Given the description of an element on the screen output the (x, y) to click on. 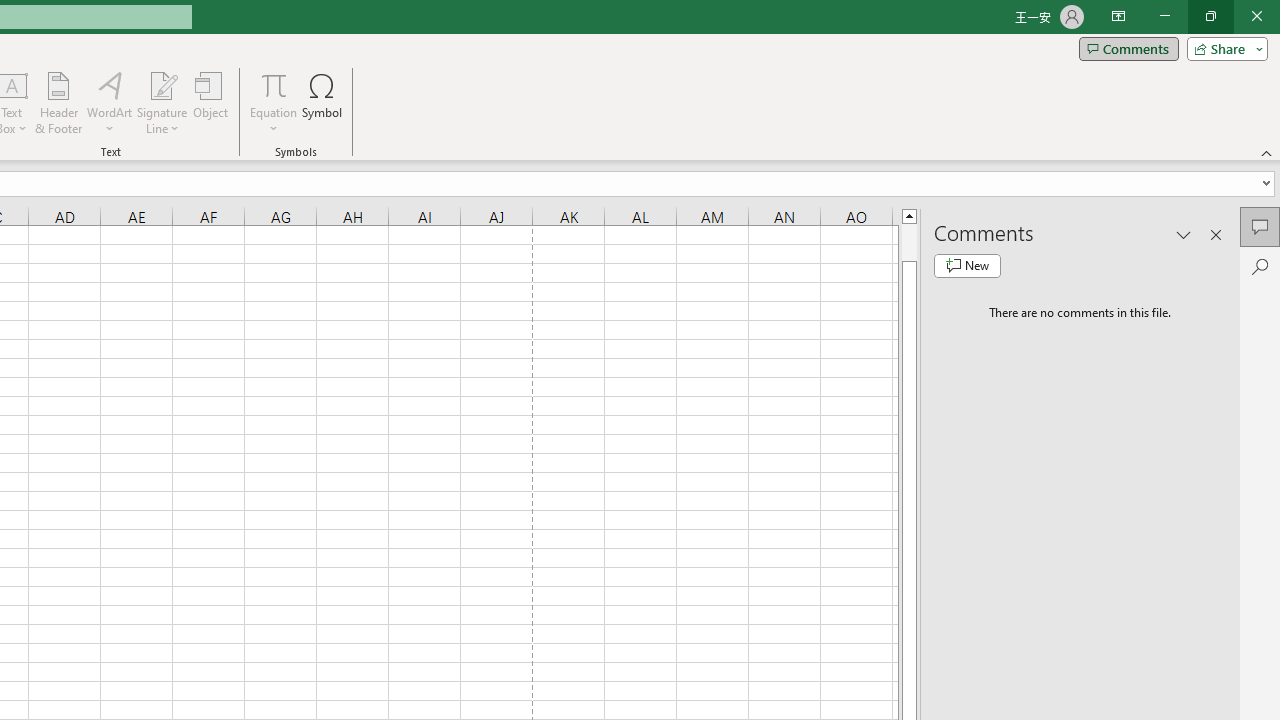
Page up (909, 241)
Symbol... (322, 102)
WordArt (109, 102)
Object... (210, 102)
New comment (967, 265)
